Given the description of an element on the screen output the (x, y) to click on. 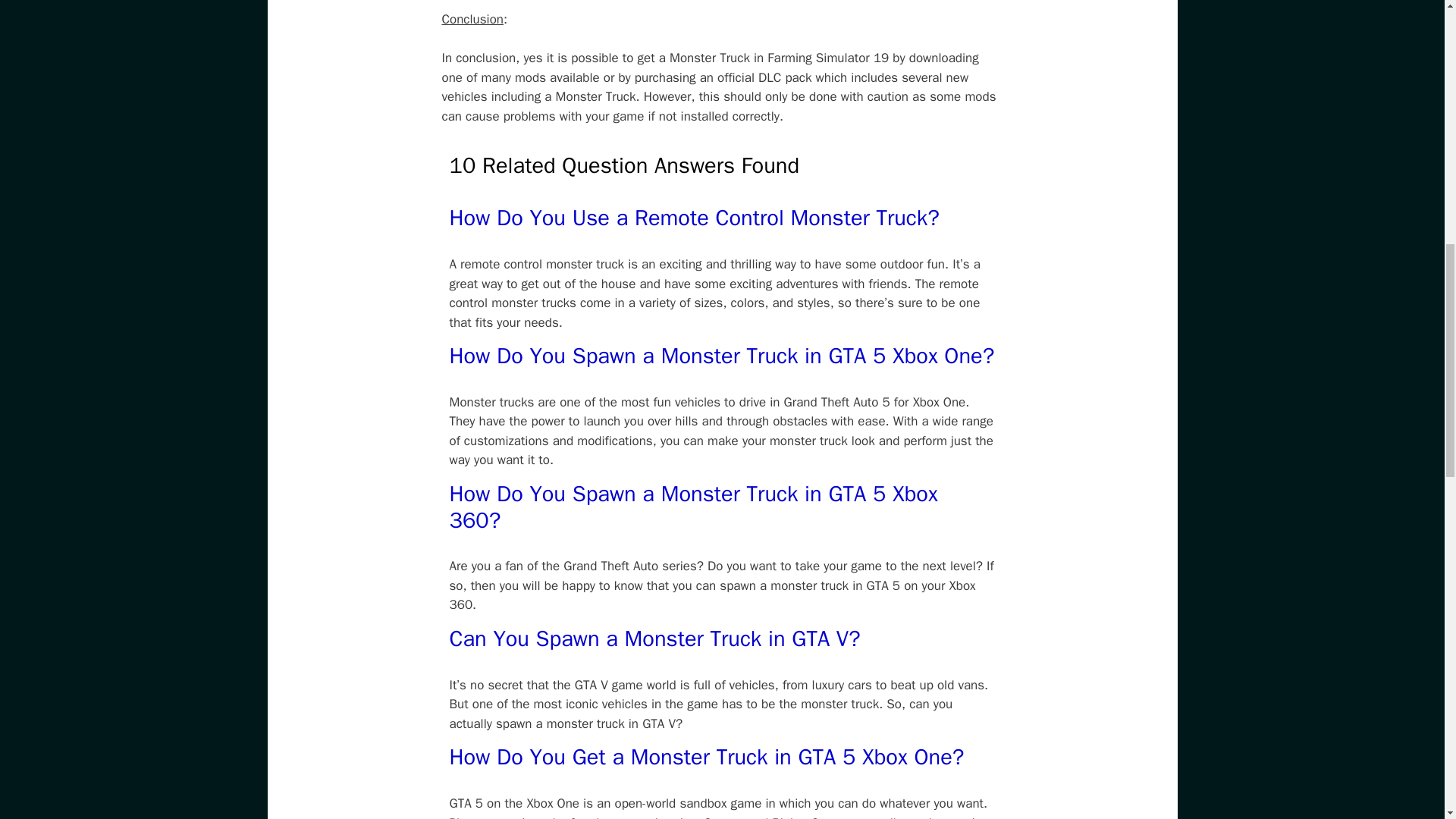
How Do You Get a Monster Truck in GTA 5 Xbox One? (705, 756)
How Do You Spawn a Monster Truck in GTA 5 Xbox One? (721, 356)
How Do You Use a Remote Control Monster Truck? (693, 217)
How Do You Spawn a Monster Truck in GTA 5 Xbox 360? (692, 506)
Can You Spawn a Monster Truck in GTA V? (654, 638)
